Given the description of an element on the screen output the (x, y) to click on. 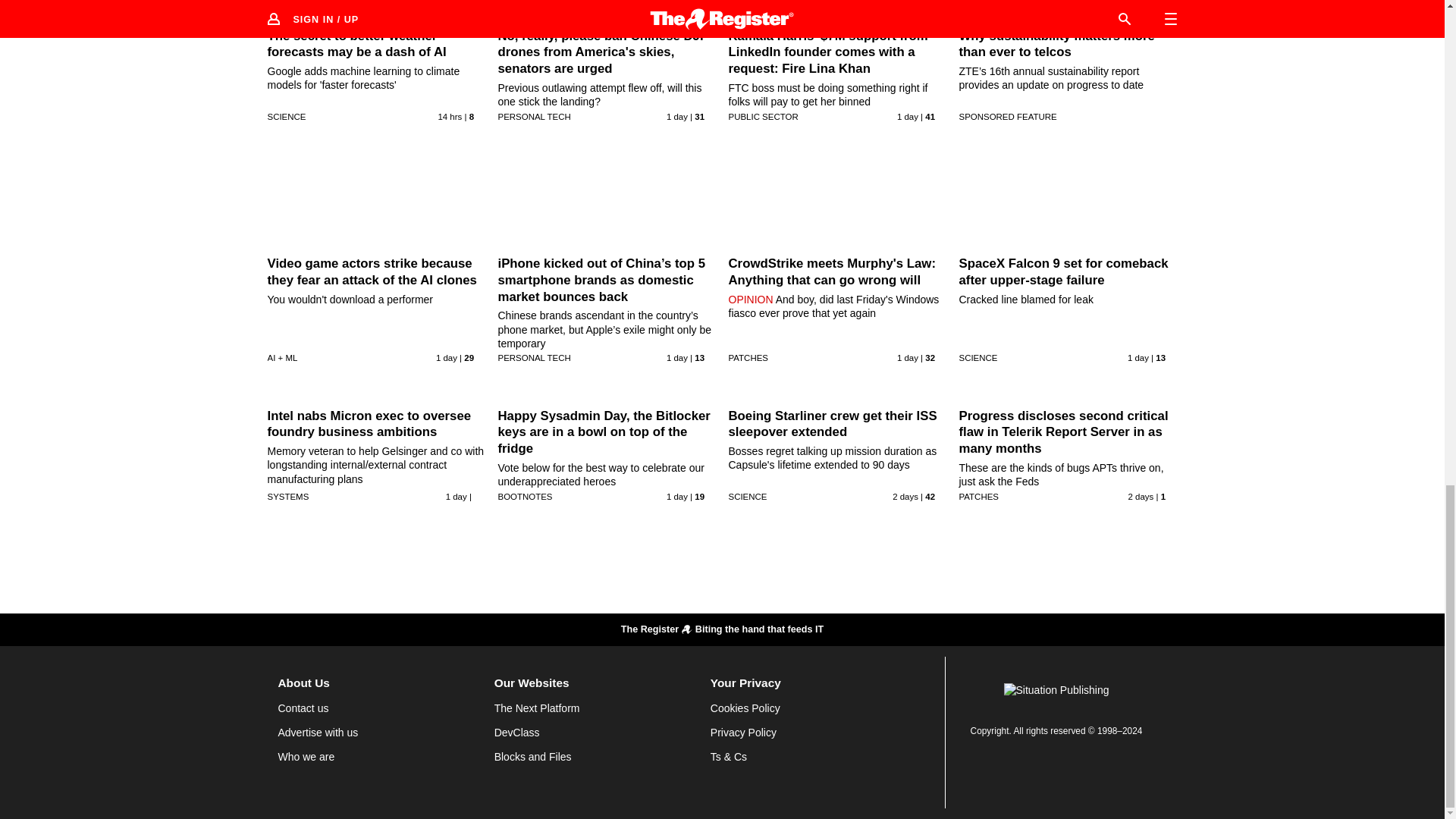
26 Jul 2024 18:36 (907, 357)
26 Jul 2024 21:58 (676, 116)
26 Jul 2024 16:29 (456, 496)
26 Jul 2024 15:33 (676, 496)
26 Jul 2024 19:26 (676, 357)
26 Jul 2024 17:38 (1137, 357)
26 Jul 2024 20:24 (446, 357)
26 Jul 2024 21:14 (907, 116)
27 Jul 2024 13:27 (449, 116)
